Given the description of an element on the screen output the (x, y) to click on. 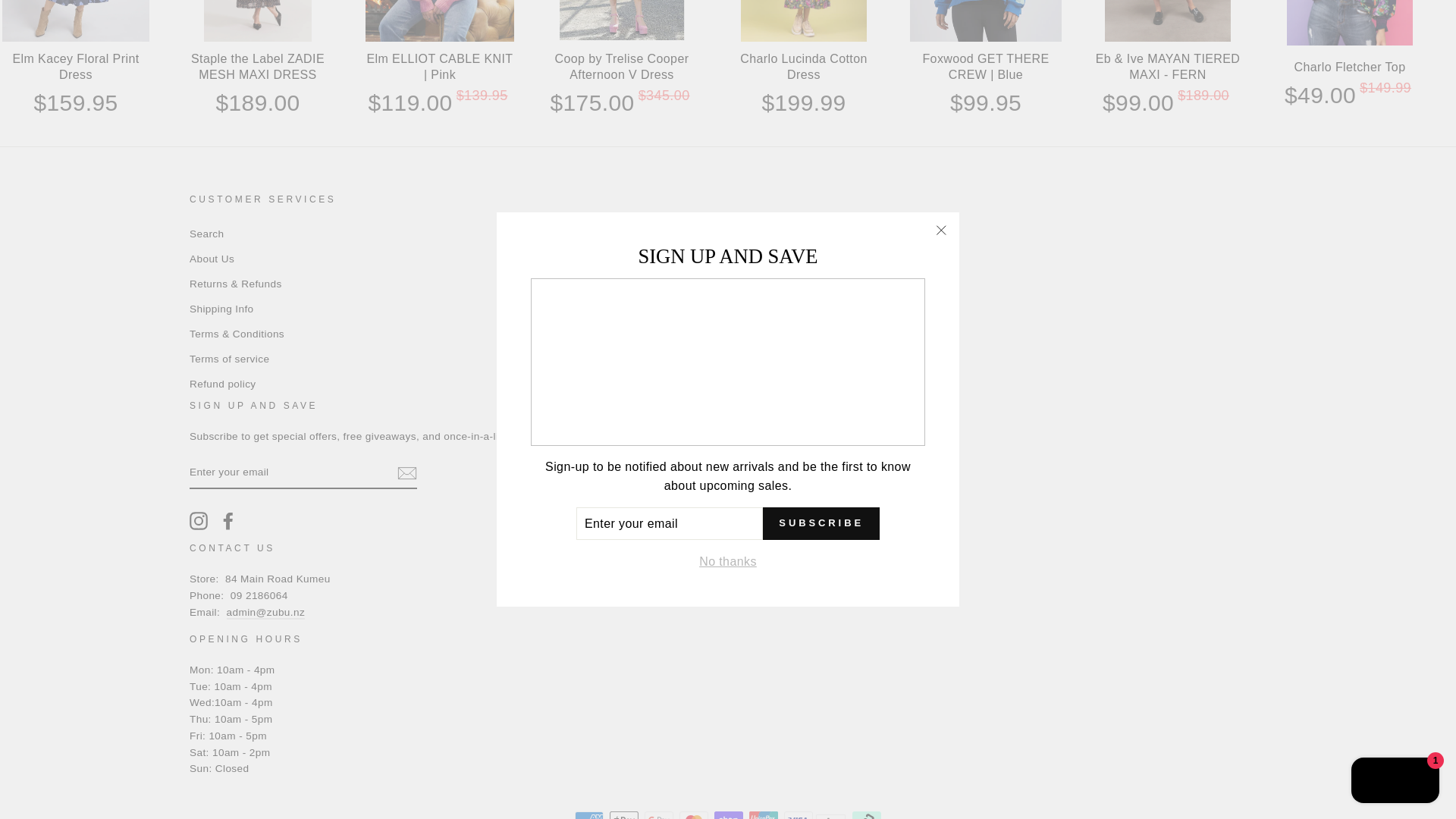
Staple the Label ZADIE MESH MAXI DRESS (257, 20)
American Express (589, 815)
Charlo Fletcher Top (1349, 22)
Visa (798, 815)
Mastercard (693, 815)
Google Pay (658, 815)
Elm Kacey Floral Print Dress (75, 20)
Apple Pay (624, 815)
Union Pay (763, 815)
Coop by Trelise Cooper Afternoon V Dress (621, 20)
Shop Pay (728, 815)
Charlo Lucinda Cotton Dress (803, 20)
